Given the description of an element on the screen output the (x, y) to click on. 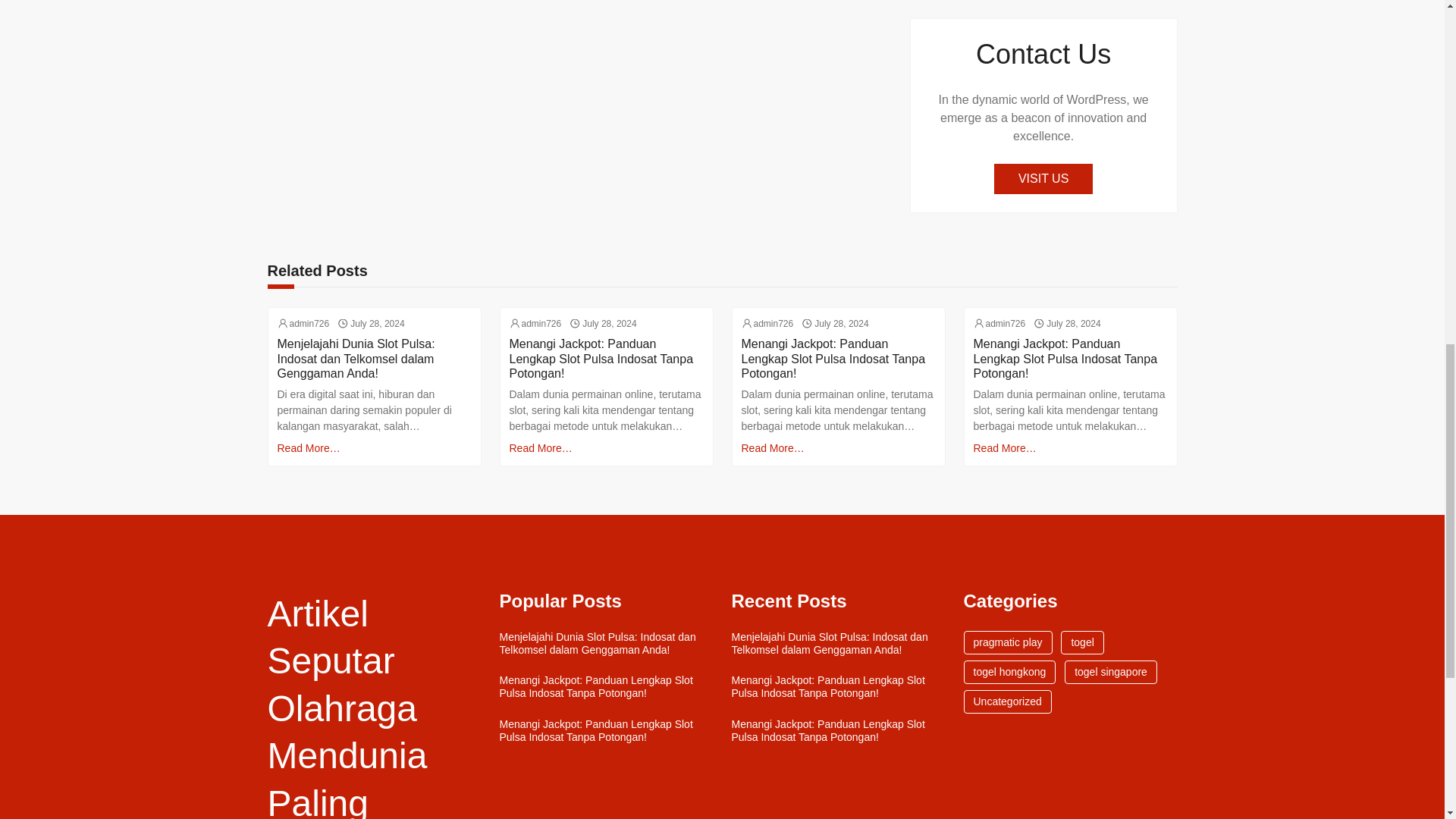
VISIT US (1043, 178)
